Given the description of an element on the screen output the (x, y) to click on. 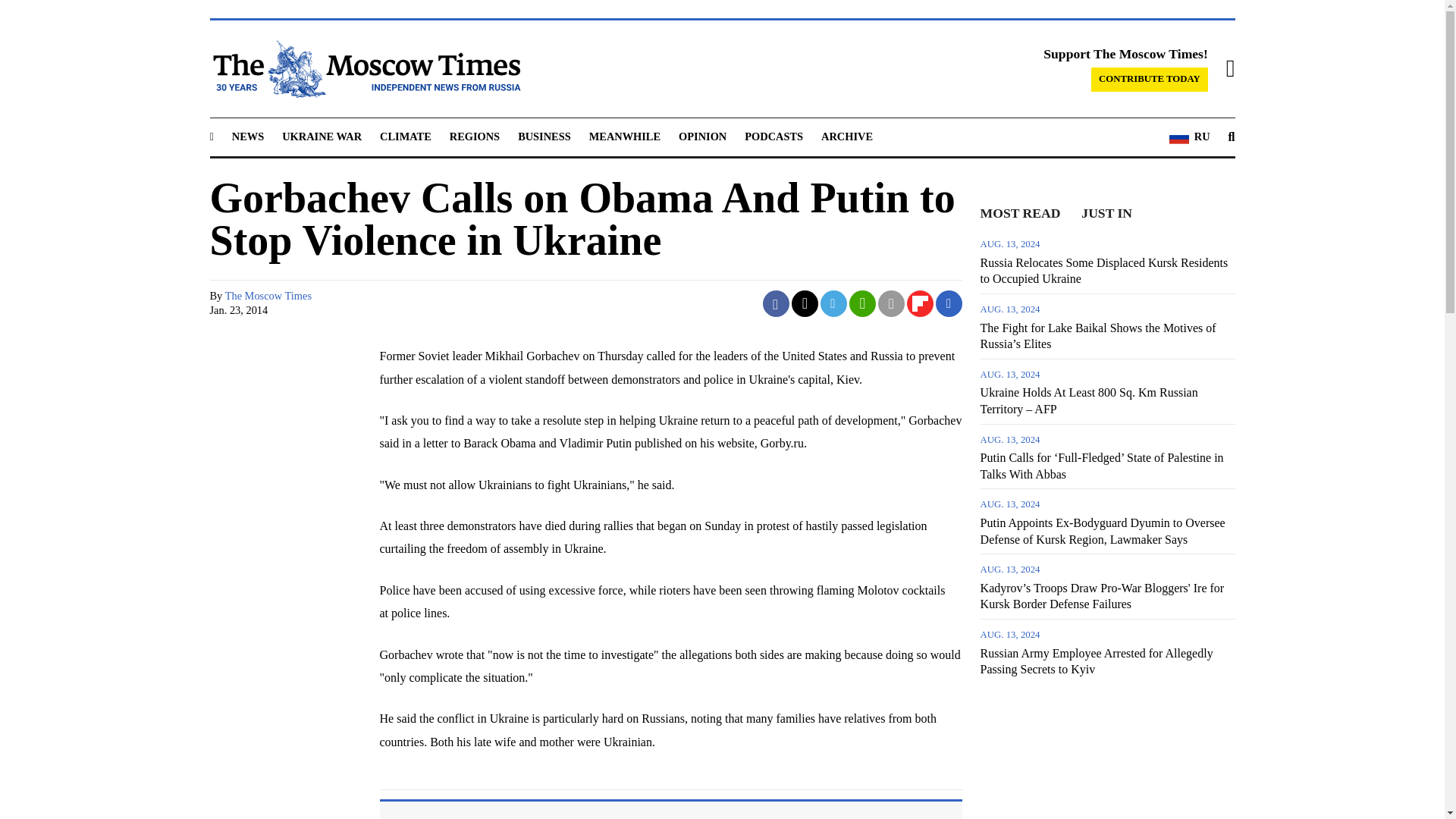
CONTRIBUTE TODAY (1149, 79)
Share on Flipboard (920, 303)
UKRAINE WAR (321, 136)
RU (1189, 137)
BUSINESS (544, 136)
OPINION (702, 136)
REGIONS (474, 136)
ARCHIVE (846, 136)
Share on Facebook (775, 303)
The Moscow Times - Independent News from Russia (364, 68)
